Given the description of an element on the screen output the (x, y) to click on. 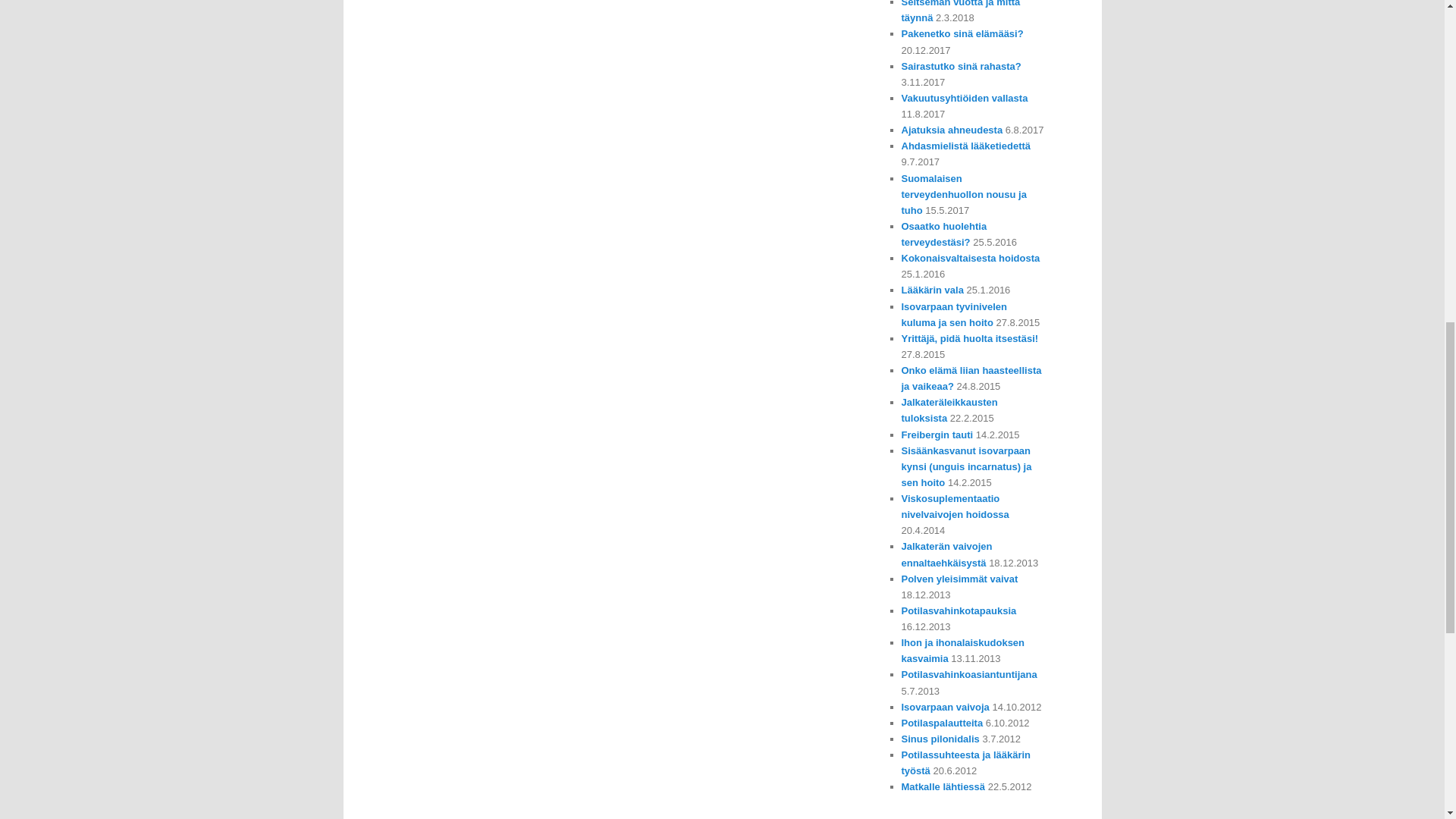
Isovarpaan tyvinivelen kuluma ja sen hoito (953, 314)
Ajatuksia ahneudesta (952, 129)
Kokonaisvaltaisesta hoidosta (970, 257)
Suomalaisen terveydenhuollon nousu ja tuho (963, 194)
